Given the description of an element on the screen output the (x, y) to click on. 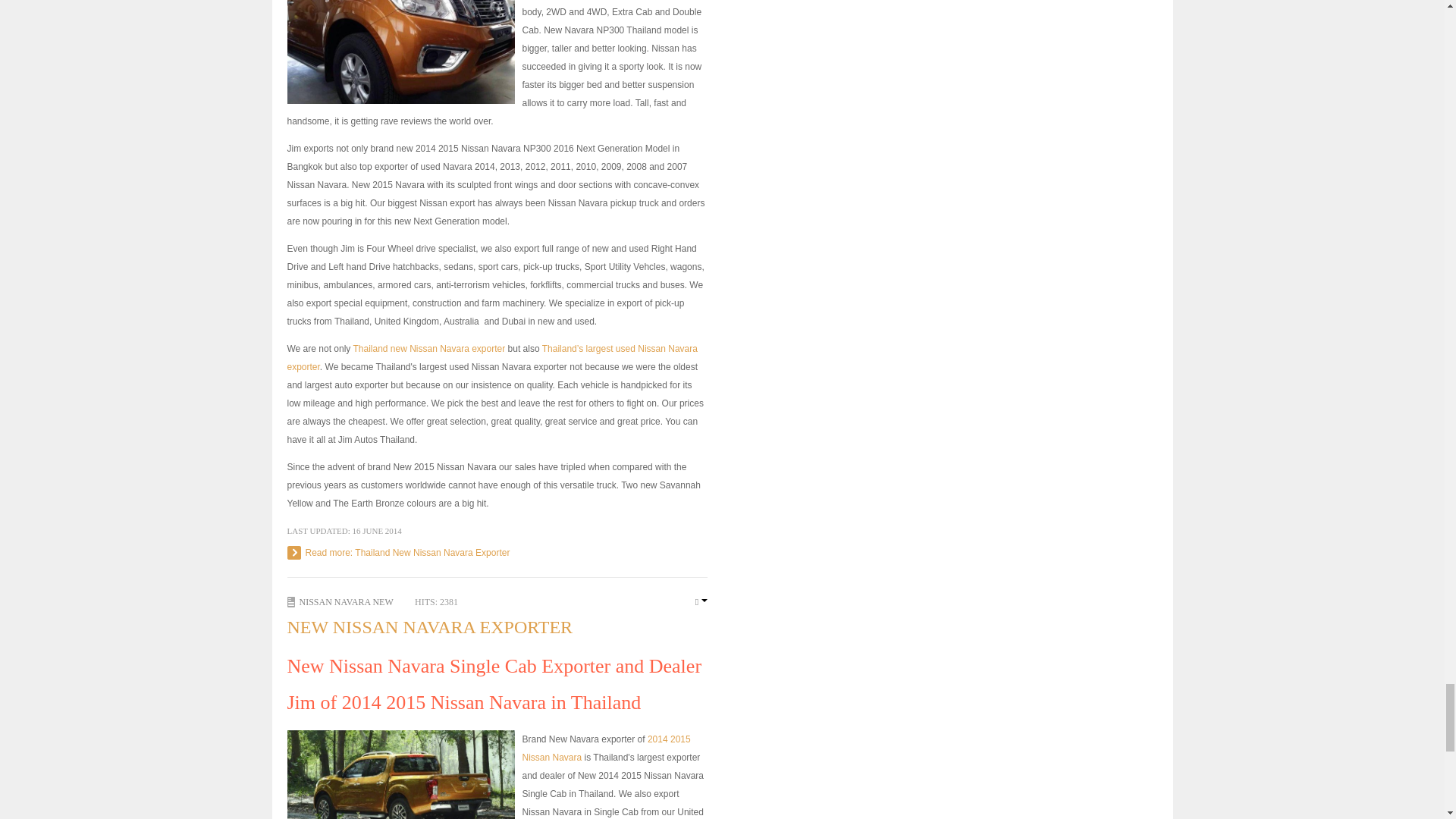
used navara exporter (491, 357)
new navara exporter (428, 348)
